Given the description of an element on the screen output the (x, y) to click on. 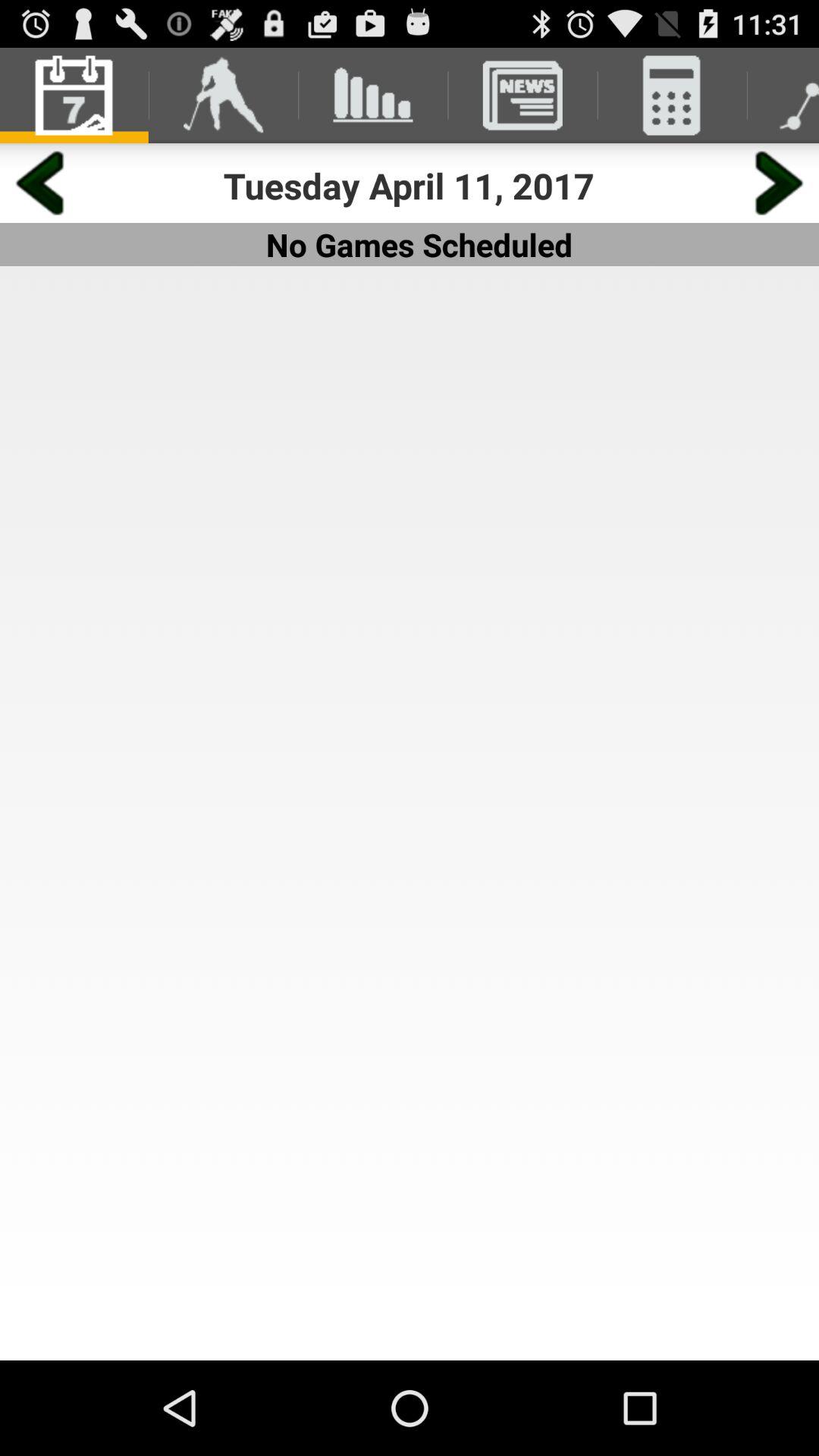
launch the app above no games scheduled (408, 185)
